Given the description of an element on the screen output the (x, y) to click on. 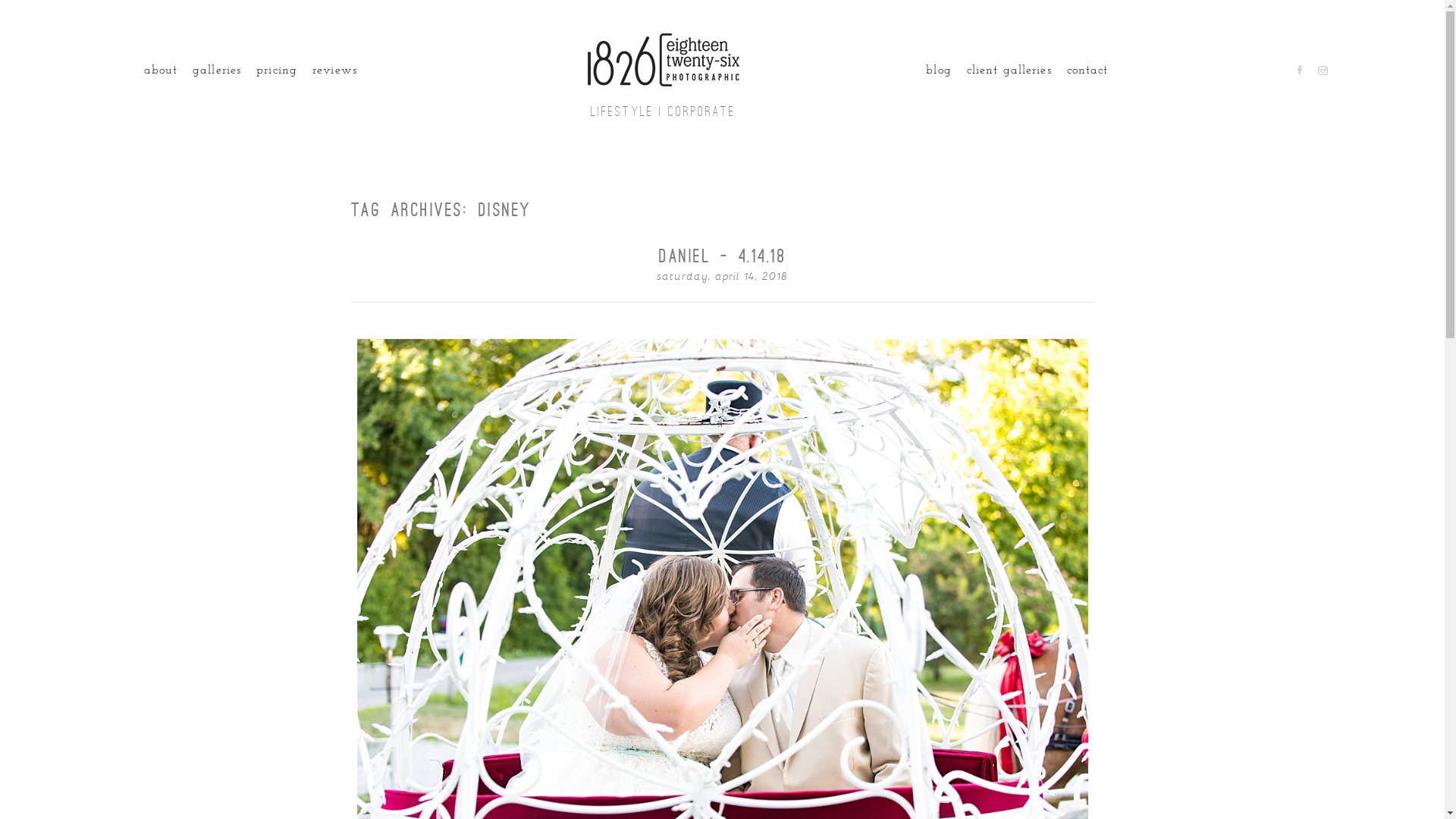
blog Element type: text (937, 70)
pricing Element type: text (276, 70)
about Element type: text (161, 70)
client galleries Element type: text (1008, 70)
reviews Element type: text (334, 70)
galleries Element type: text (216, 70)
LIFESTYLE Element type: text (621, 111)
contact Element type: text (1087, 70)
CORPORATE Element type: text (701, 111)
